Given the description of an element on the screen output the (x, y) to click on. 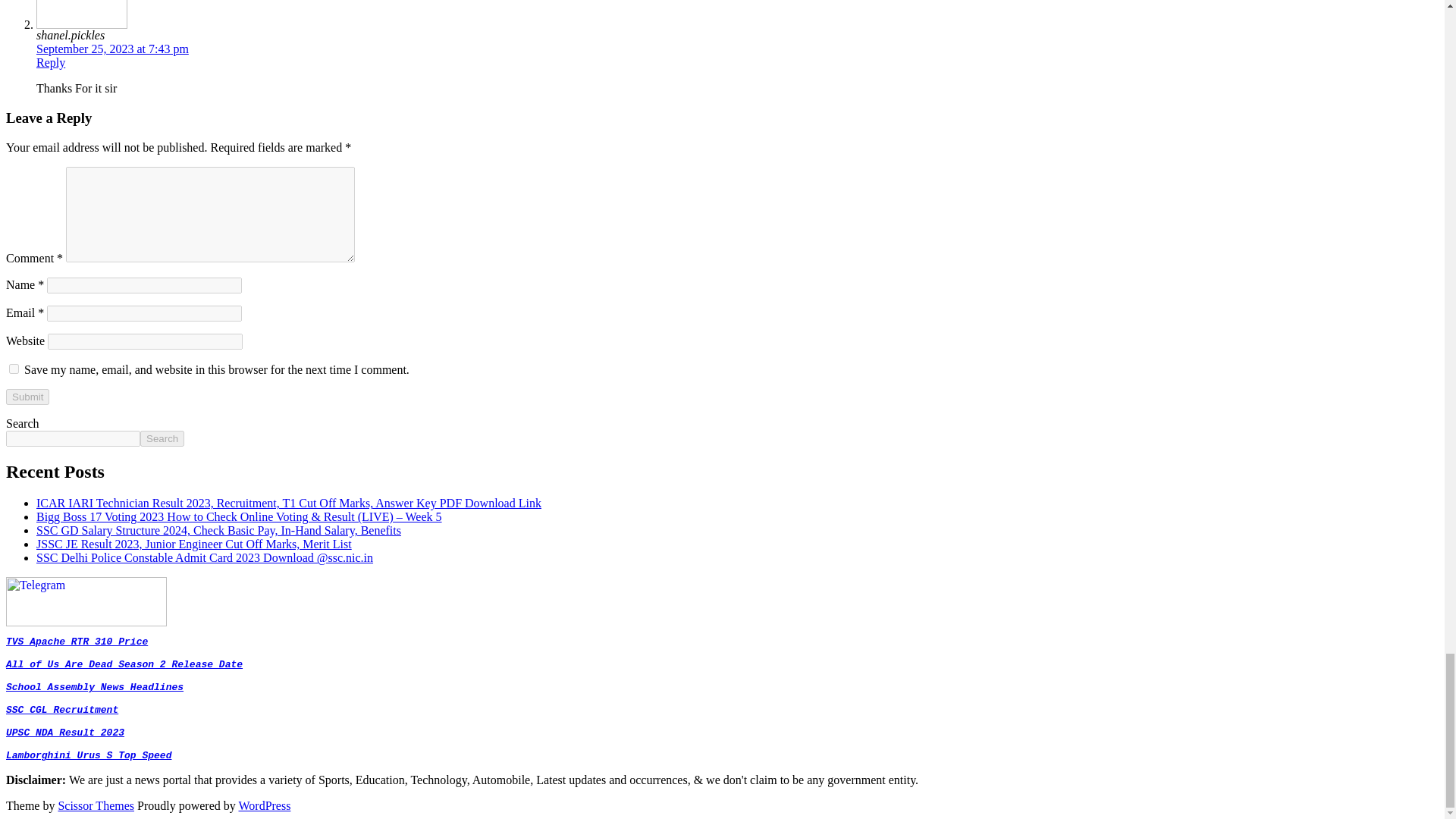
September 25, 2023 at 7:43 pm (112, 48)
TVS Apache RTR 310 Price (76, 641)
Search (161, 438)
Reply (50, 62)
Telegram (86, 621)
yes (13, 368)
Submit (27, 396)
